Given the description of an element on the screen output the (x, y) to click on. 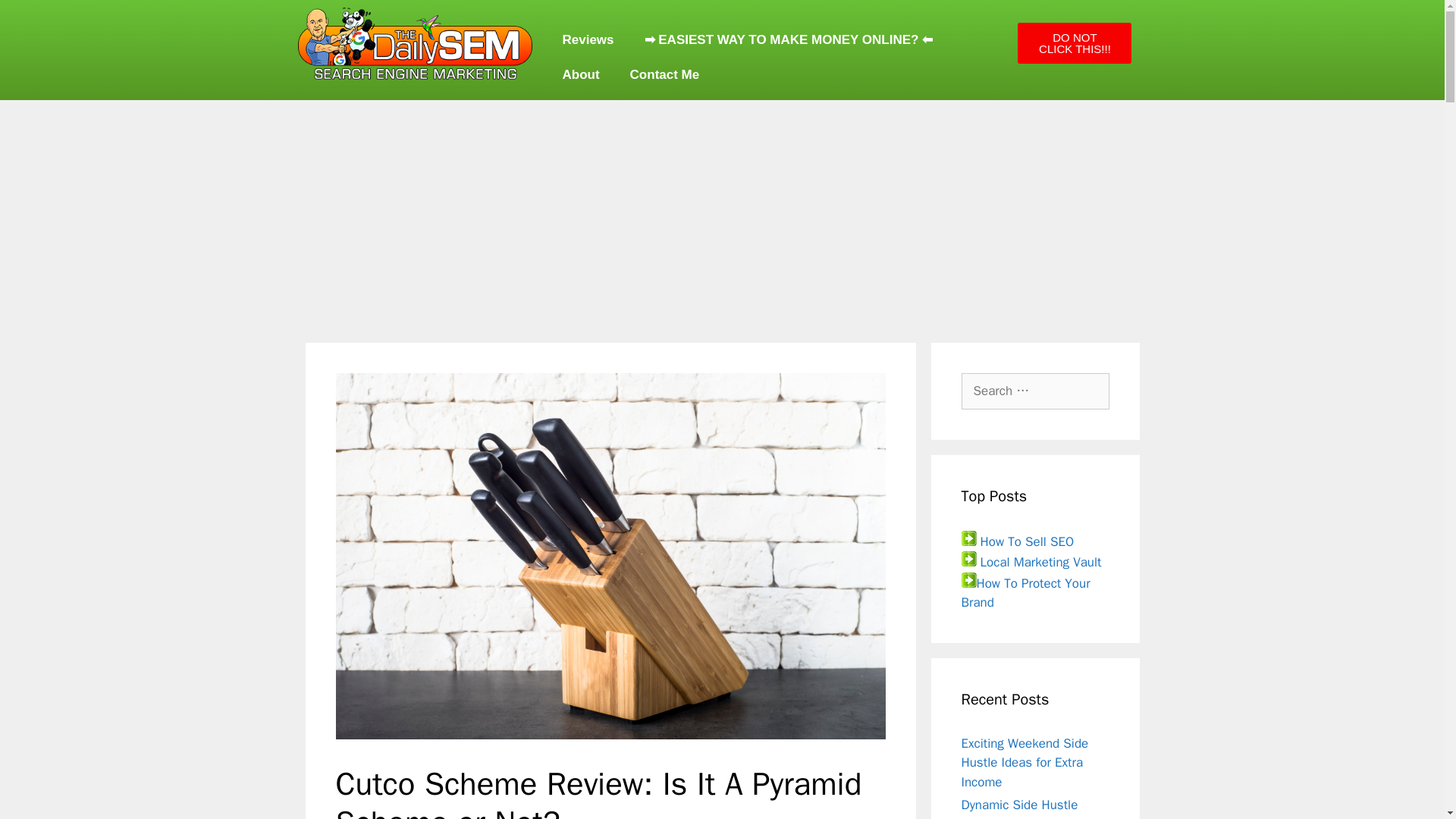
Reviews (587, 39)
About (580, 74)
DO NOT CLICK THIS!!! (1074, 42)
Contact Me (664, 74)
